Given the description of an element on the screen output the (x, y) to click on. 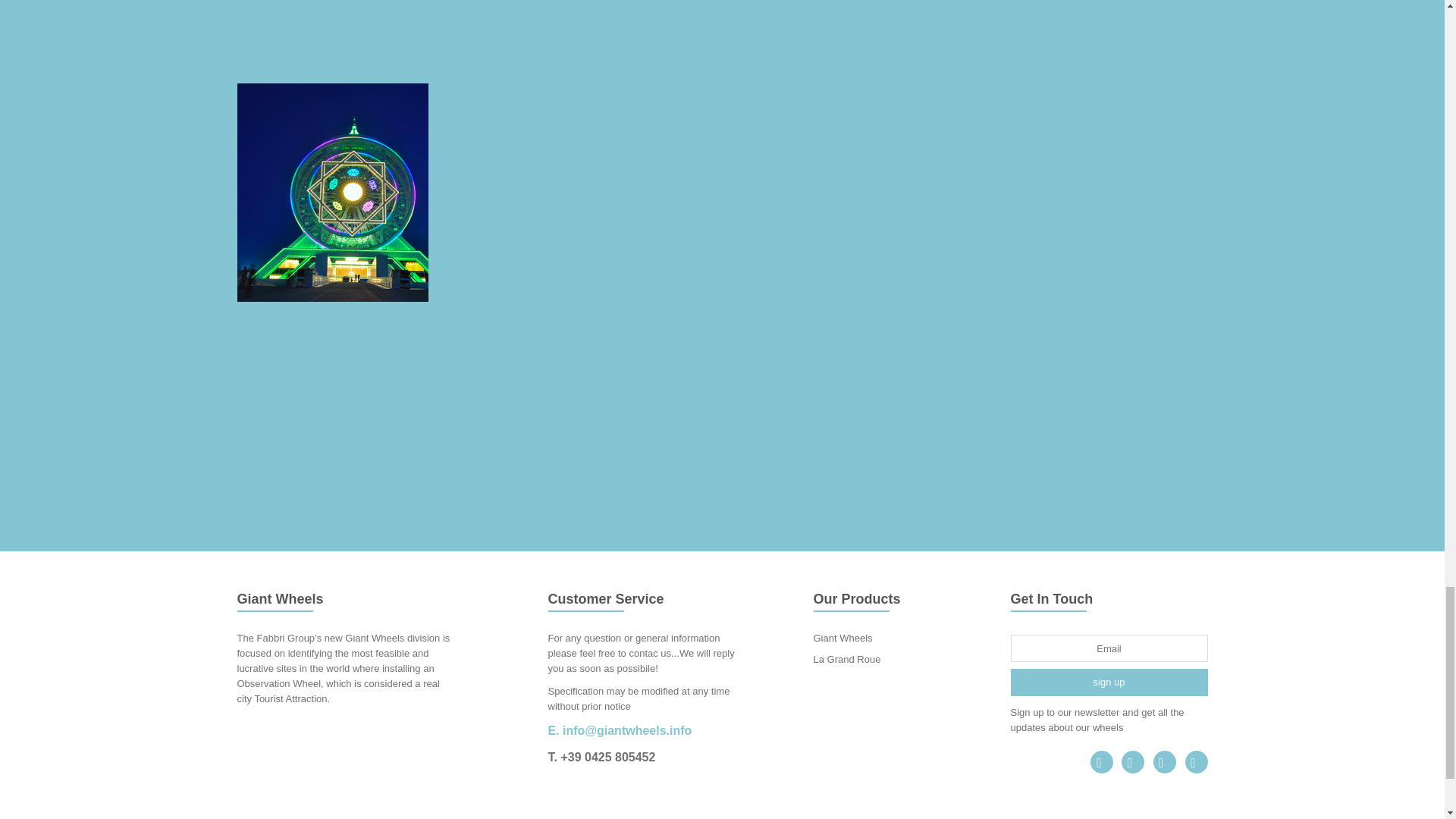
Giant Wheels (842, 637)
